Given the description of an element on the screen output the (x, y) to click on. 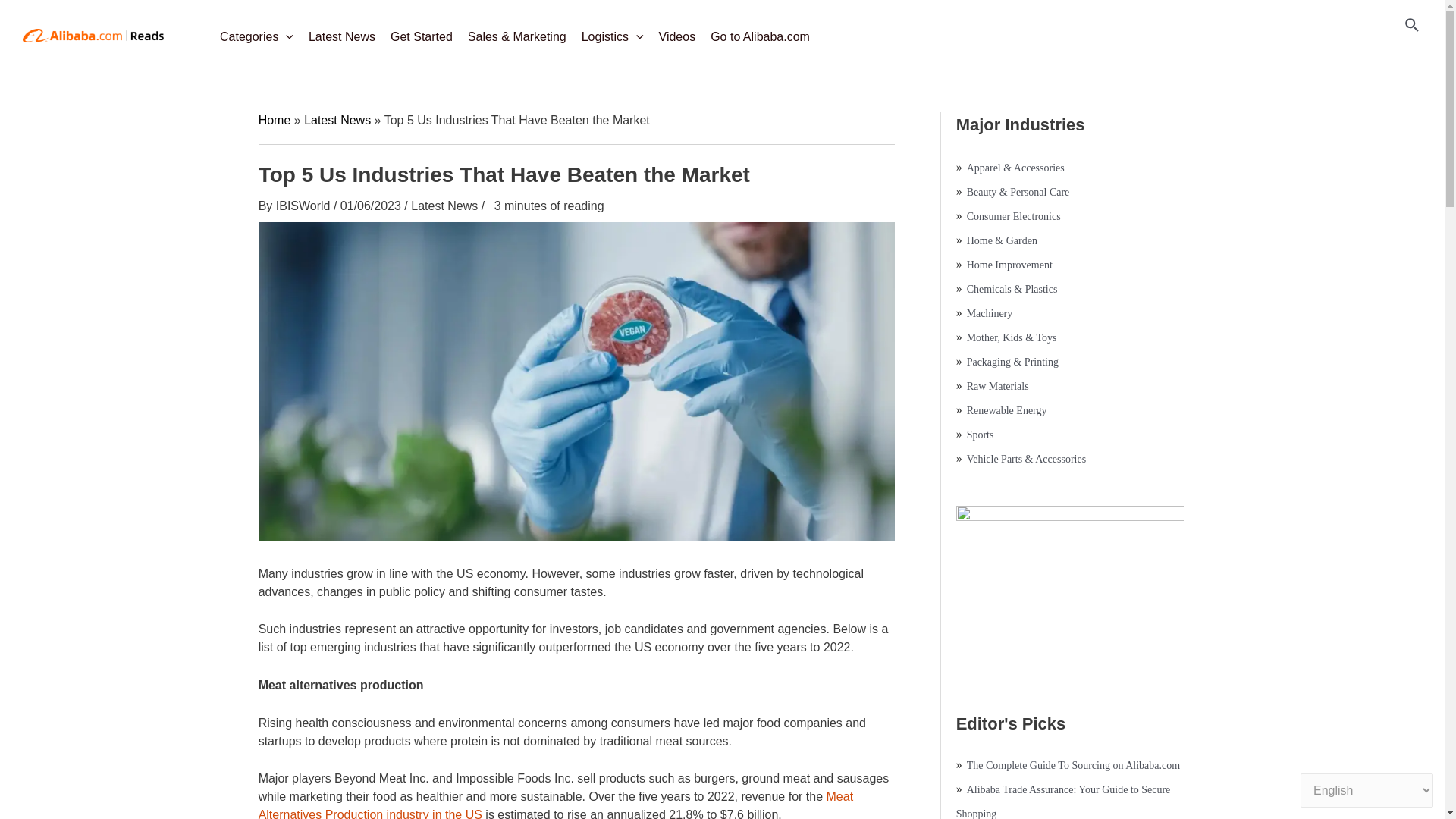
Go to Alibaba.com (759, 31)
Categories (256, 31)
View all posts by IBISWorld (304, 205)
Get Started (421, 31)
Latest News (341, 31)
Logistics (611, 31)
